Given the description of an element on the screen output the (x, y) to click on. 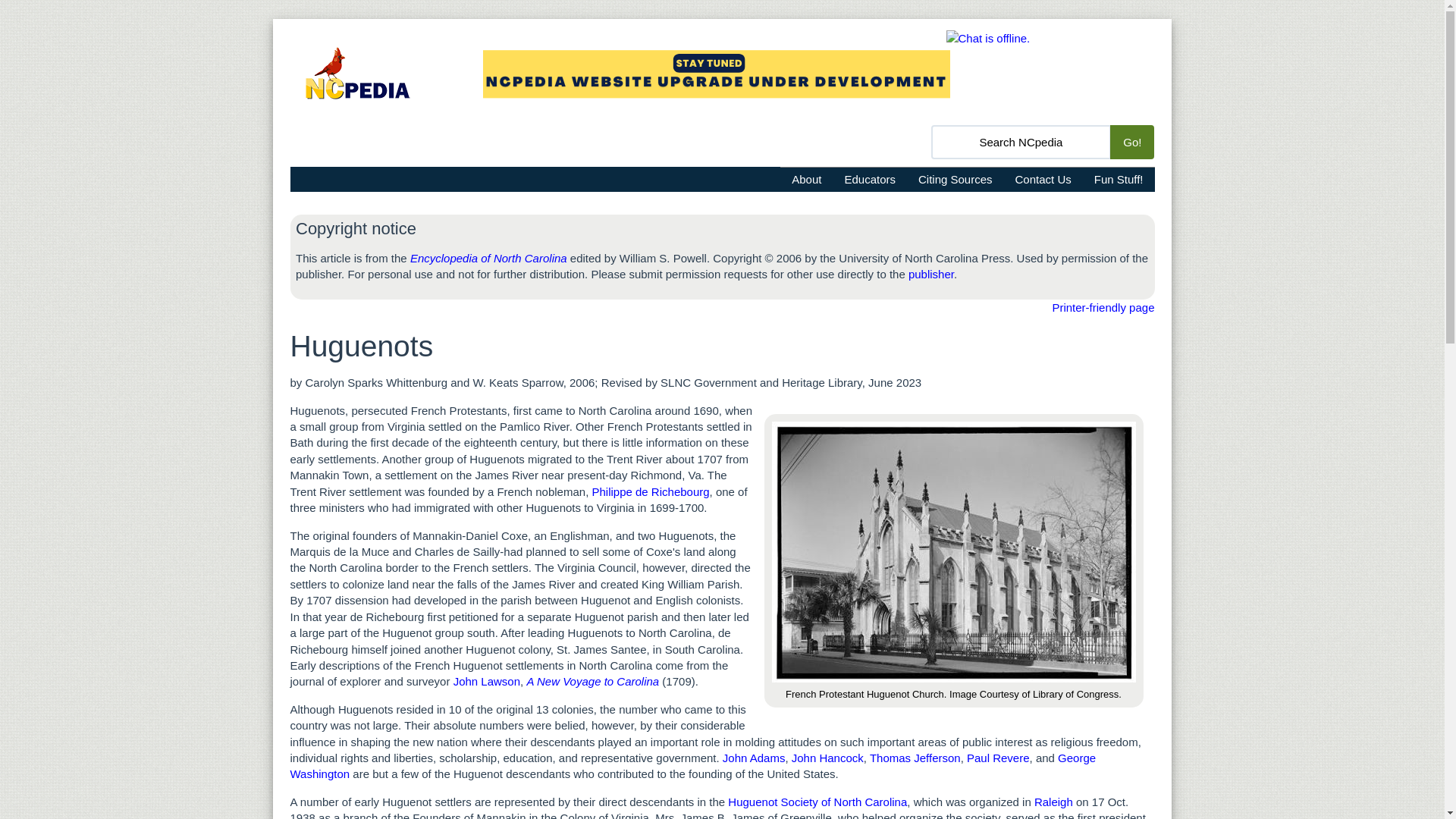
Huguenot Society of North Carolina (817, 801)
Go! (1131, 141)
Citing Sources (955, 178)
Go! (1131, 141)
A New Voyage to Carolina (592, 680)
NCpedia Fun Stuff Page (1118, 178)
About (806, 178)
John Adams (752, 757)
Fun Stuff! (1118, 178)
publisher (930, 273)
Educators (869, 178)
John Hancock (827, 757)
Paul Revere (997, 757)
John Lawson (485, 680)
Thomas Jefferson (914, 757)
